Given the description of an element on the screen output the (x, y) to click on. 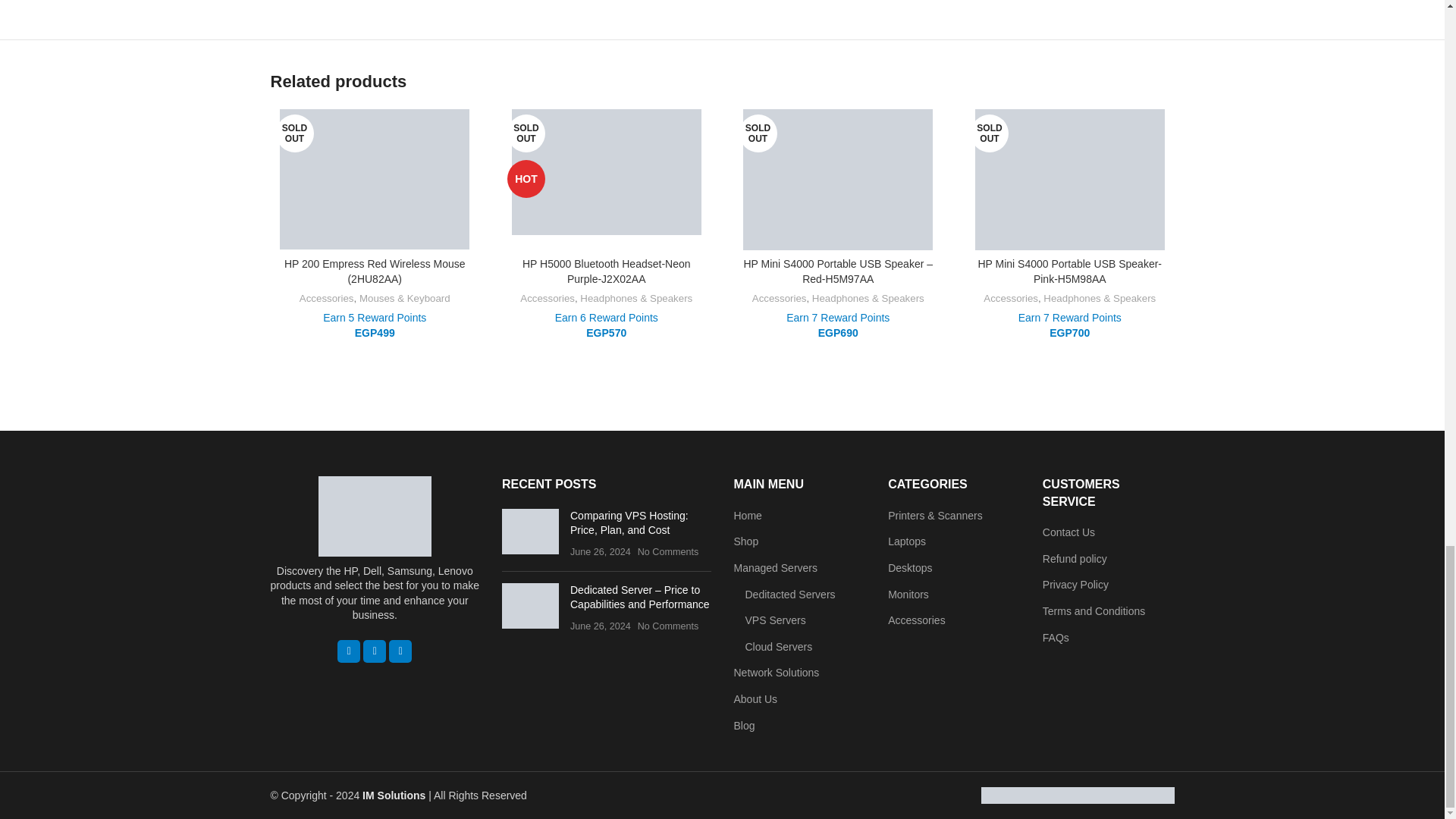
Permalink to Comparing VPS Hosting: Price, Plan, and Cost (629, 523)
